Given the description of an element on the screen output the (x, y) to click on. 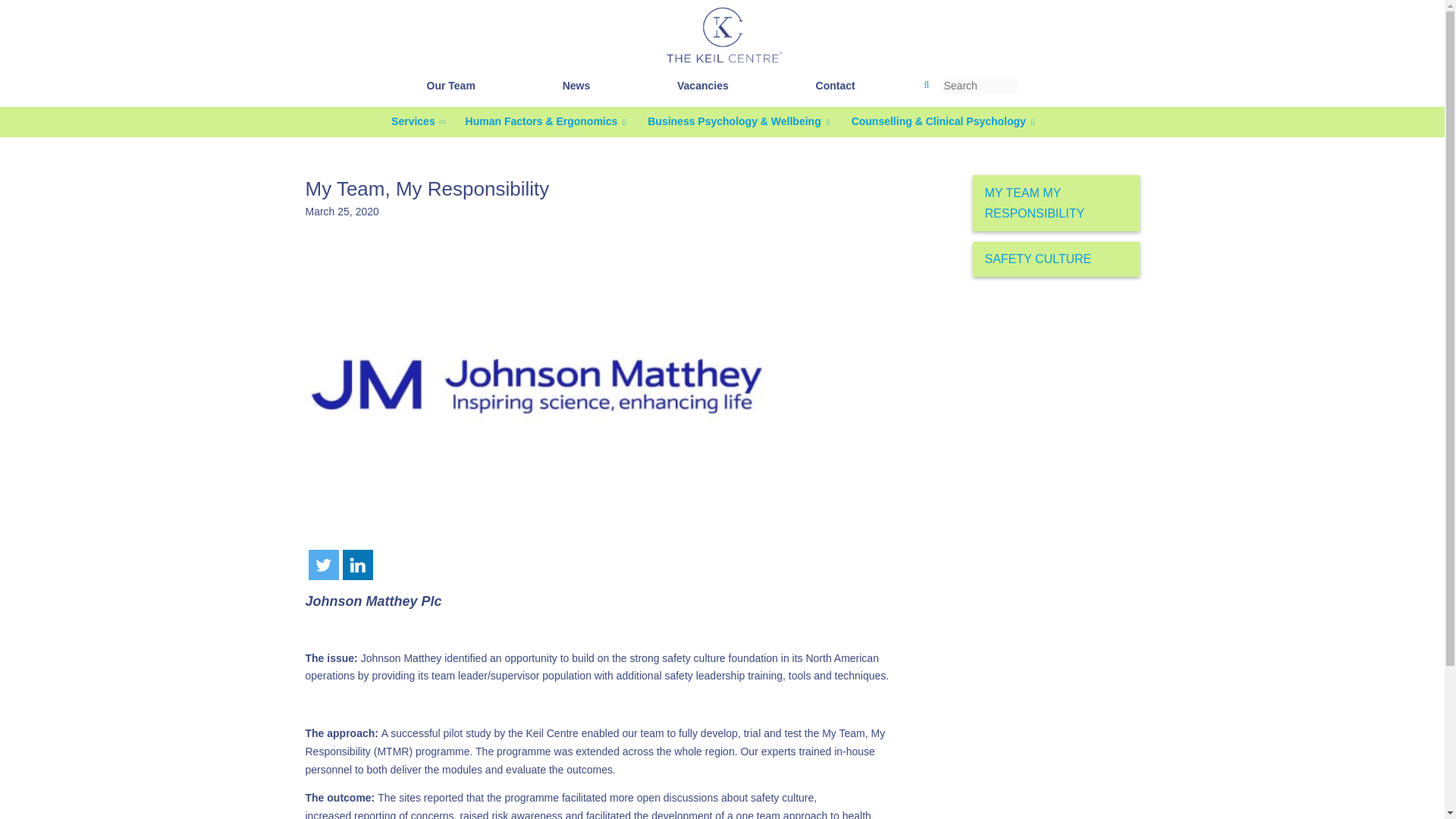
Search (37, 7)
LinkedIn (357, 564)
News (576, 85)
Contact (835, 85)
Services (413, 121)
Vacancies (703, 85)
Twitter (322, 564)
Our Team (451, 85)
